Given the description of an element on the screen output the (x, y) to click on. 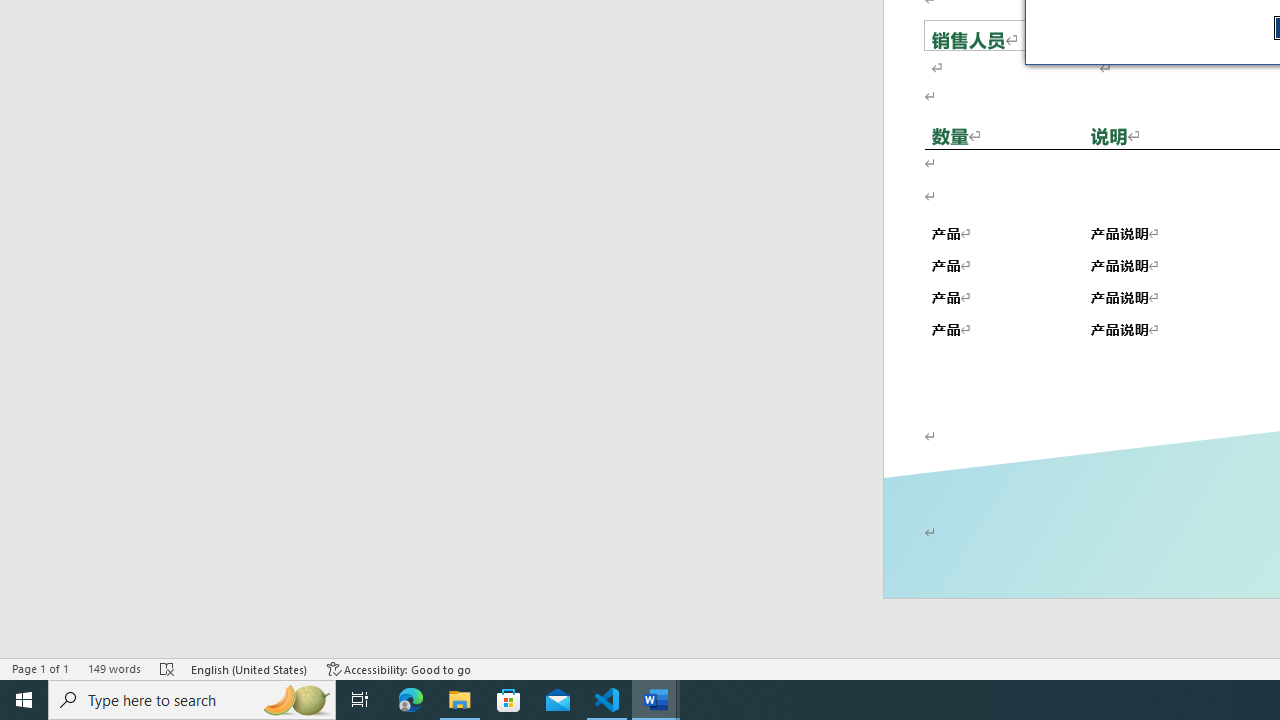
Word - 2 running windows (656, 699)
Microsoft Edge (411, 699)
Page Number Page 1 of 1 (39, 668)
